Given the description of an element on the screen output the (x, y) to click on. 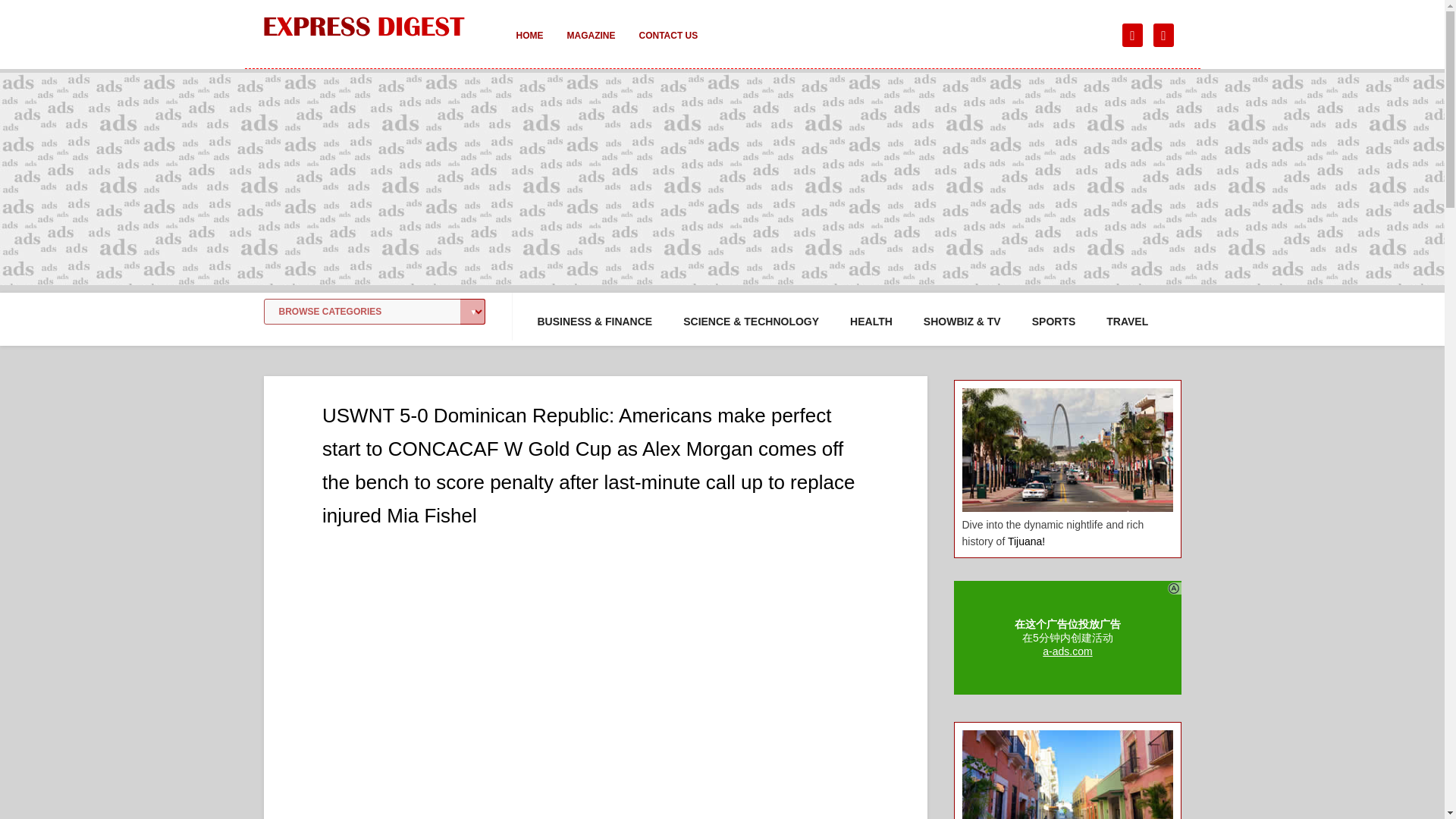
HEALTH (871, 321)
MAGAZINE (590, 45)
SPORTS (1053, 321)
Tijuana! (1026, 541)
CONTACT US (667, 45)
TRAVEL (1127, 321)
